Given the description of an element on the screen output the (x, y) to click on. 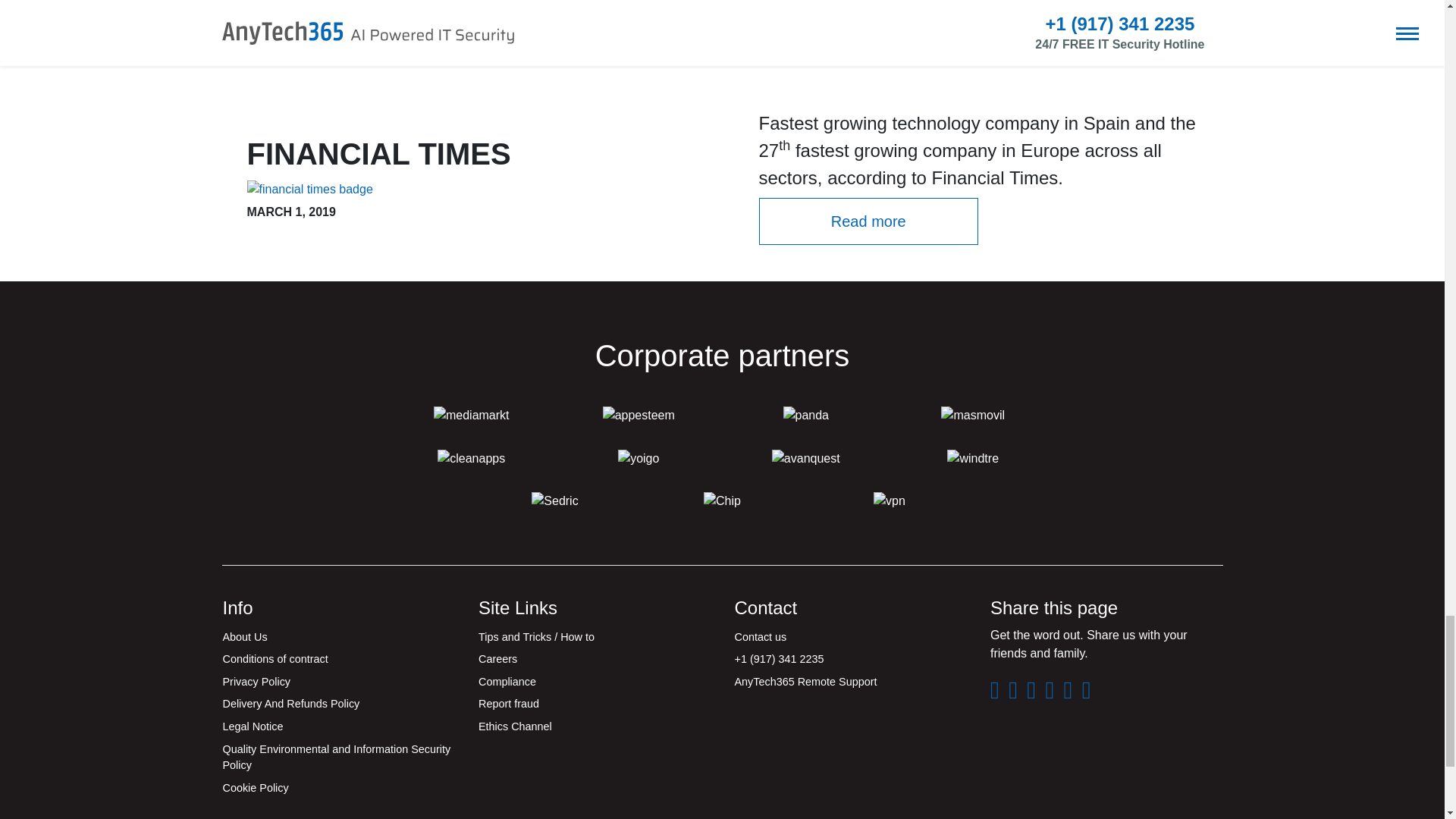
Quality Environmental and Information Security Policy (338, 757)
About Us (338, 637)
Careers (594, 659)
Conditions of contract (338, 659)
Compliance (594, 681)
Cookie Policy (338, 788)
Legal Notice (338, 726)
Privacy Policy (338, 681)
Delivery And Refunds Policy (338, 703)
Read more (868, 221)
